Given the description of an element on the screen output the (x, y) to click on. 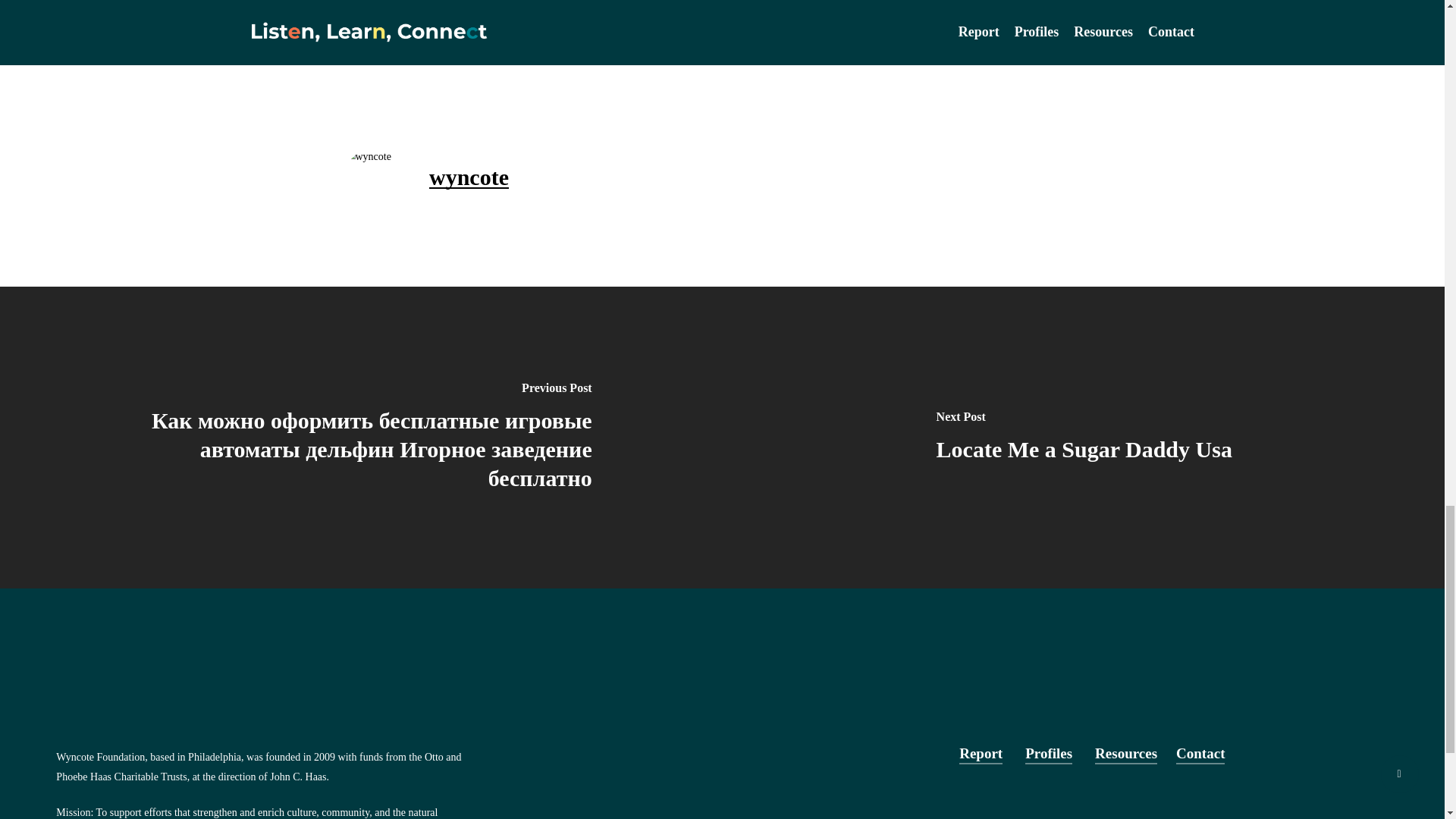
Contact (1200, 753)
Report (981, 753)
Profiles (1048, 753)
Resources (1125, 753)
wyncote (468, 176)
